Given the description of an element on the screen output the (x, y) to click on. 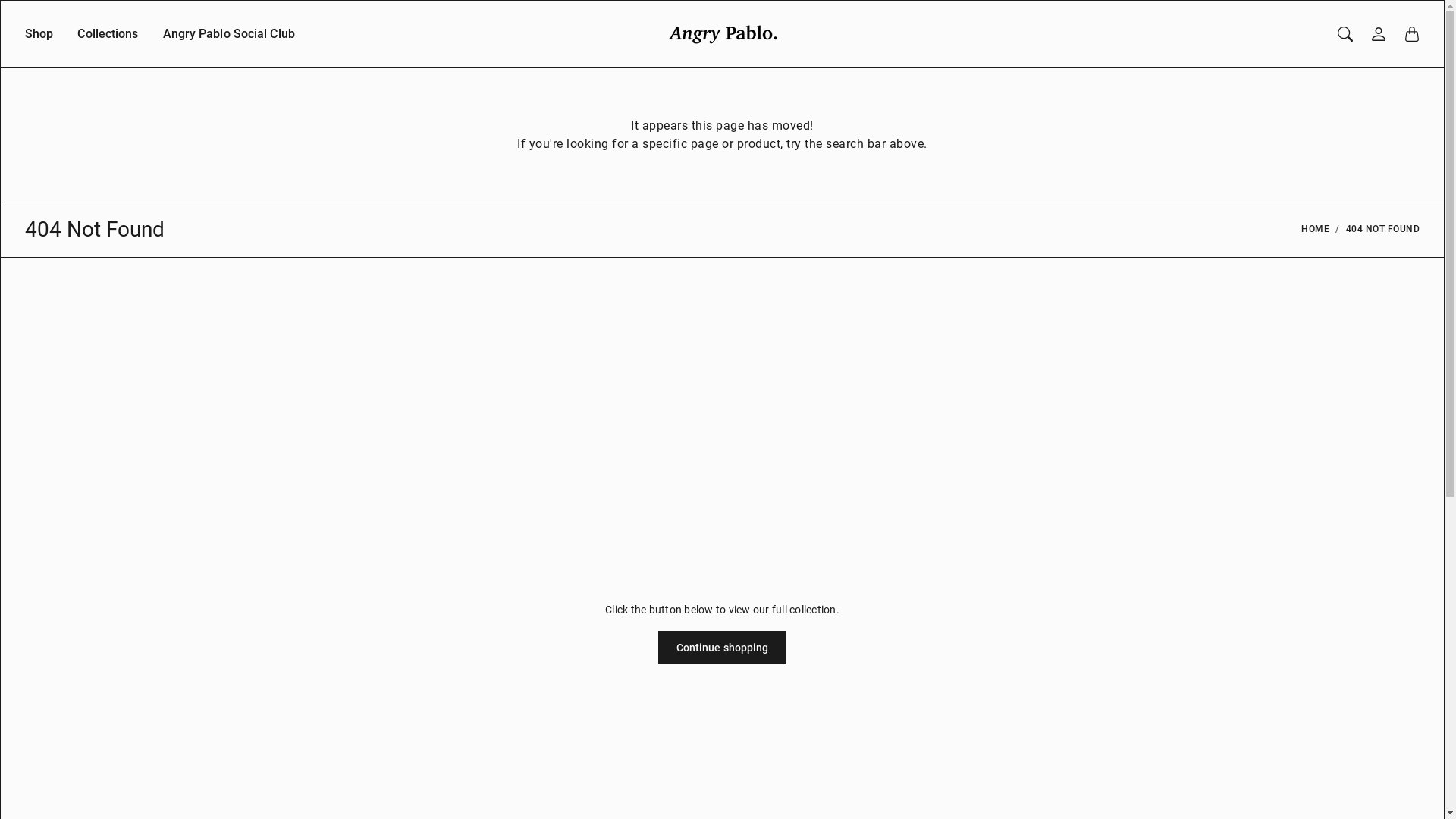
Shop Element type: text (39, 46)
Skip to content Element type: text (0, 0)
Angry Pablo Social Club Element type: text (228, 46)
Collections Element type: text (107, 46)
HOME Element type: text (1315, 229)
Continue shopping Element type: text (722, 647)
